Given the description of an element on the screen output the (x, y) to click on. 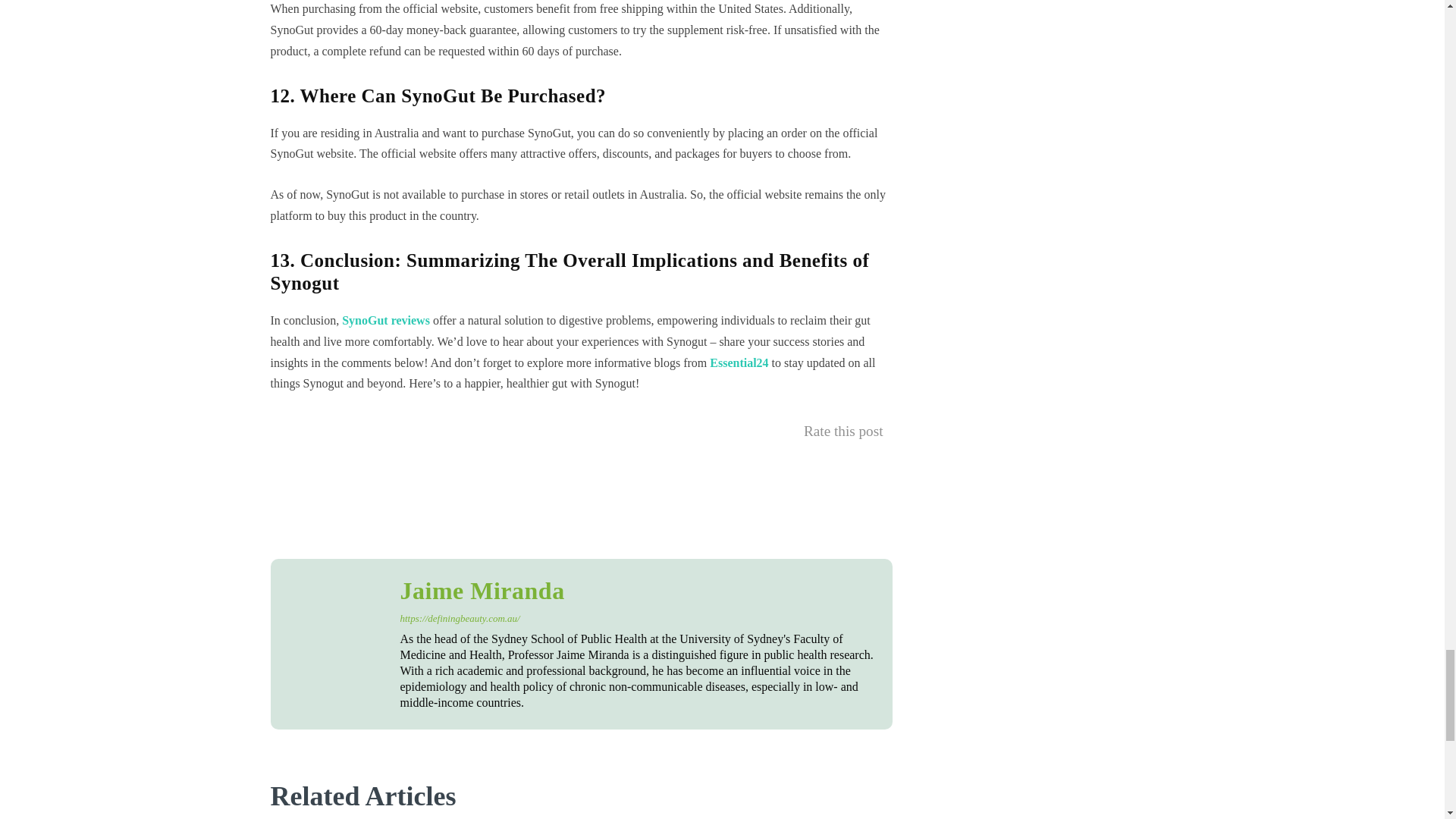
Jaime Miranda (638, 590)
Essential24 (739, 362)
SynoGut reviews (385, 319)
